Given the description of an element on the screen output the (x, y) to click on. 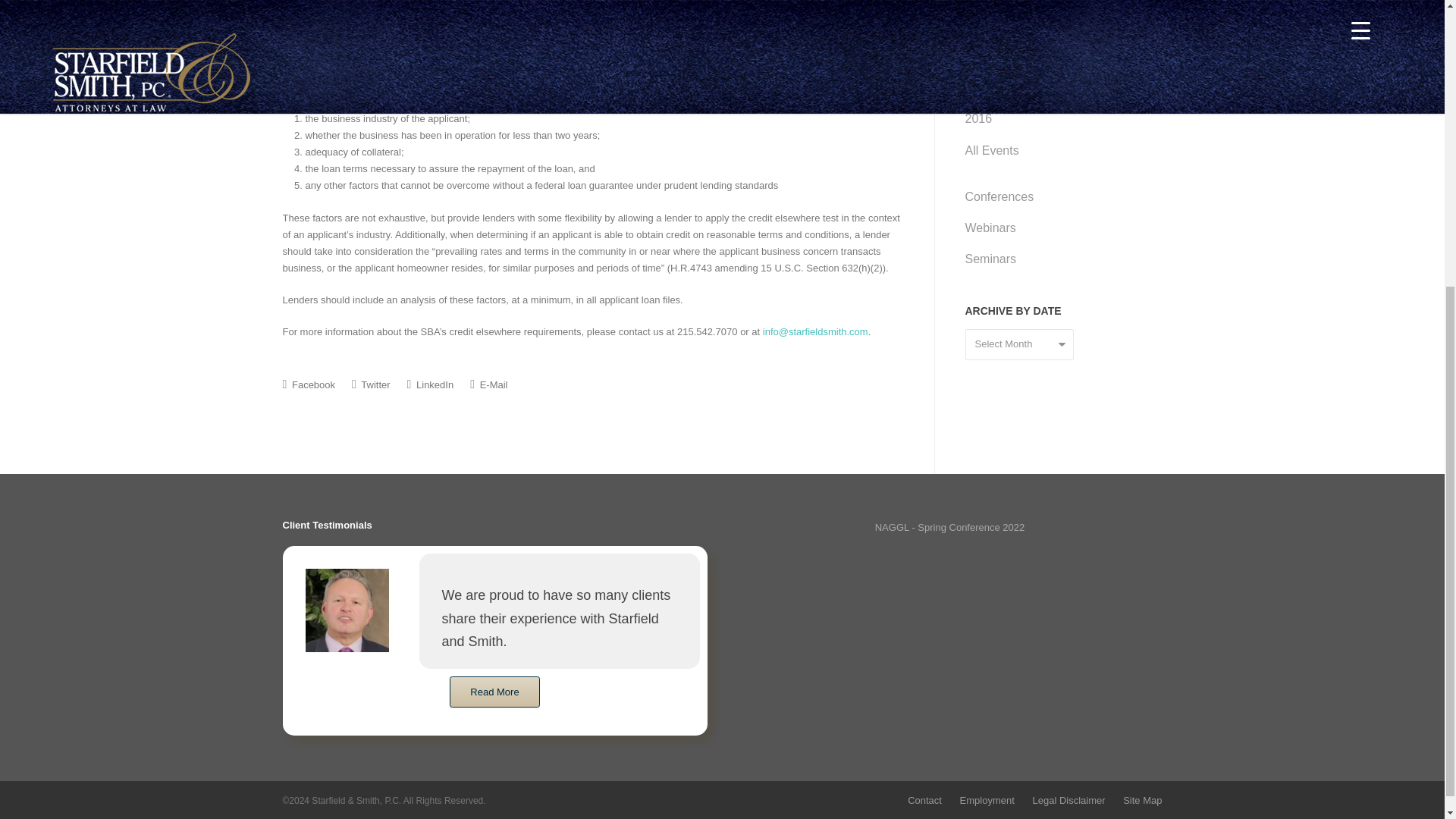
Twitter (371, 384)
Facebook (308, 384)
2020 (1047, 4)
LinkedIn (430, 384)
2019 (1047, 24)
E-Mail (488, 384)
